Given the description of an element on the screen output the (x, y) to click on. 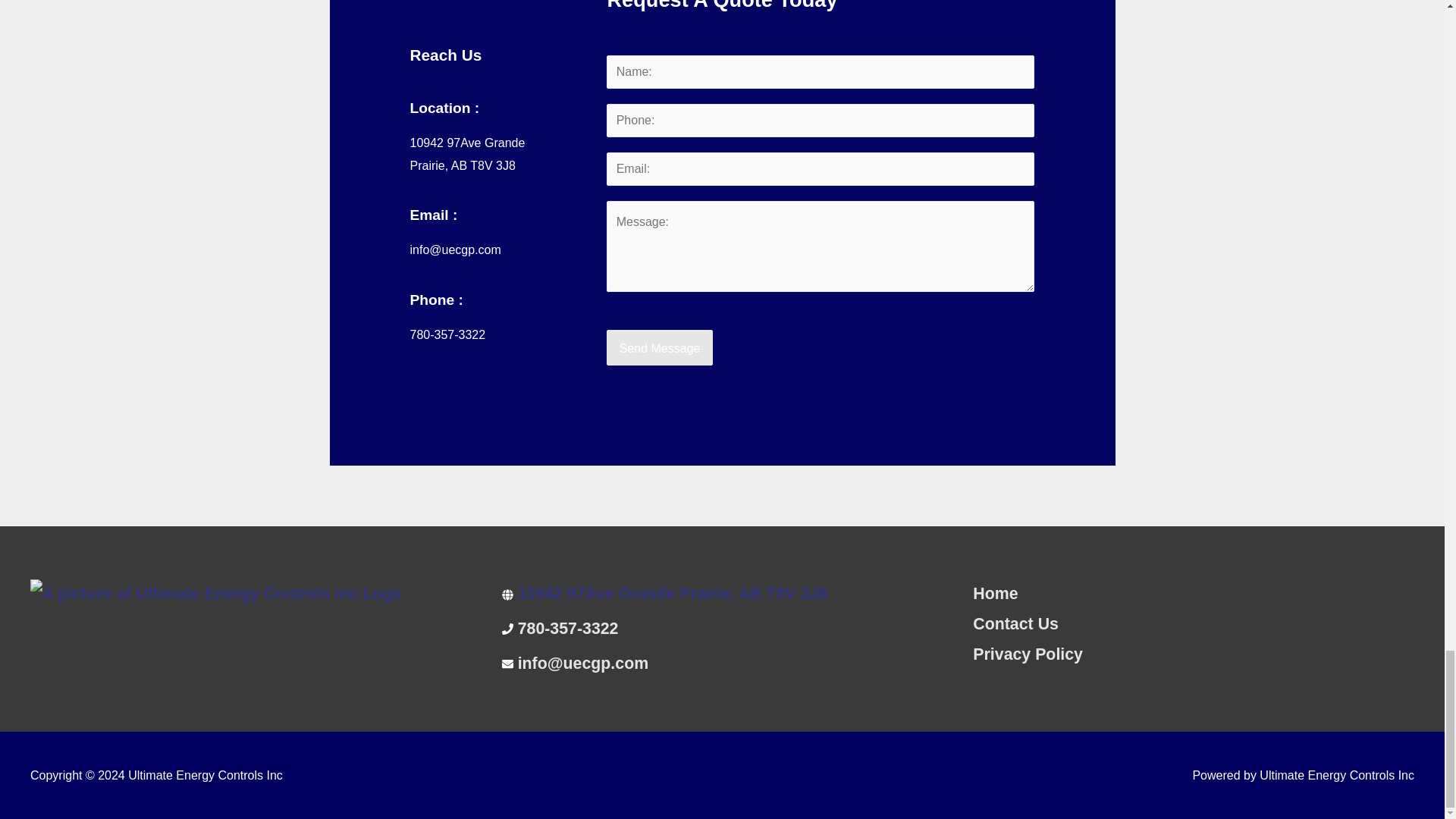
780-357-3322 (568, 628)
Privacy Policy (1027, 654)
Contact Us (1015, 624)
Home (994, 593)
Send Message (660, 348)
